Given the description of an element on the screen output the (x, y) to click on. 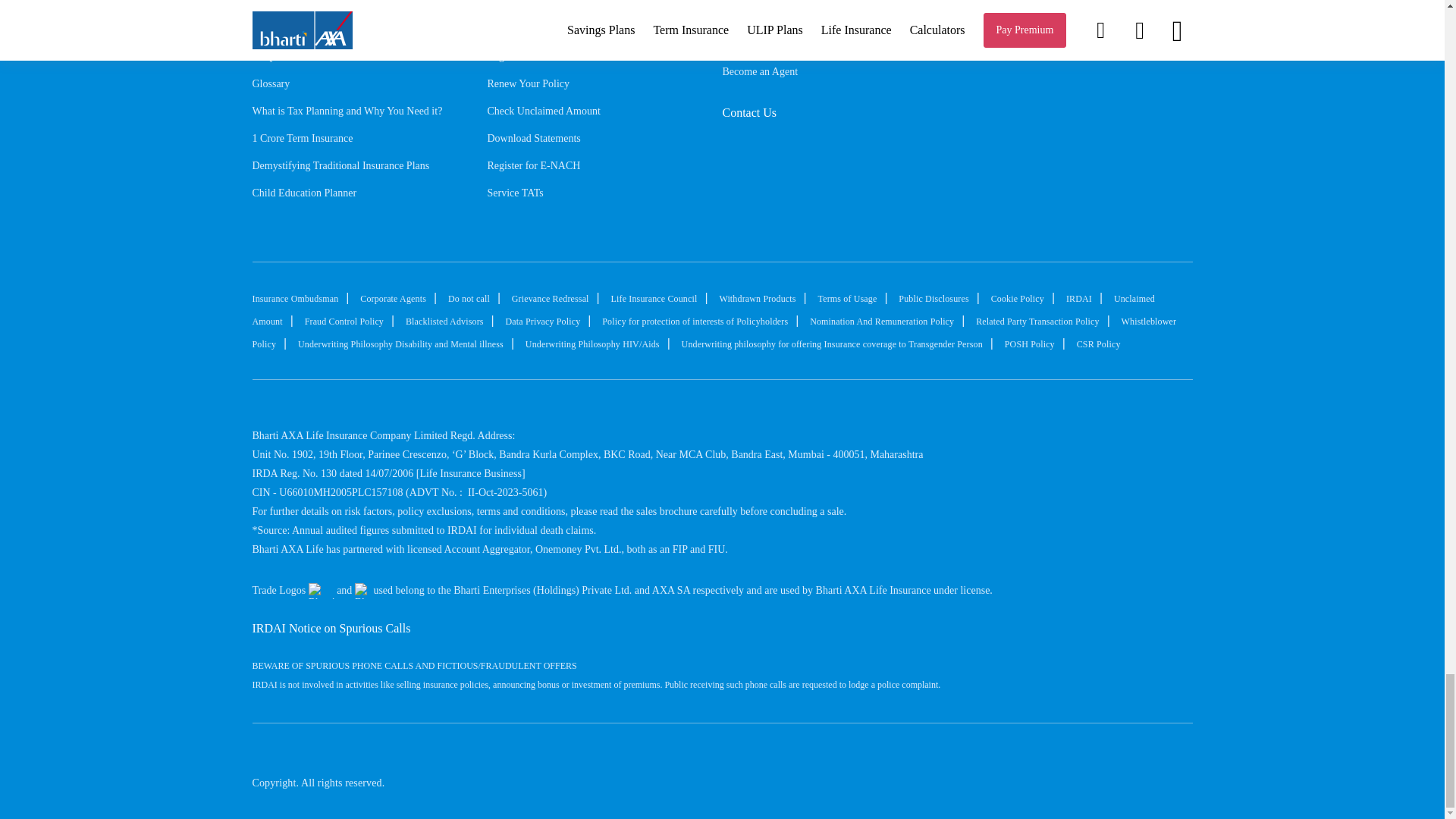
AXA Logo (363, 590)
Bharti AXA Life Insurance Logo (1131, 760)
Bharti AXA Life Insurance Logo (321, 590)
